Given the description of an element on the screen output the (x, y) to click on. 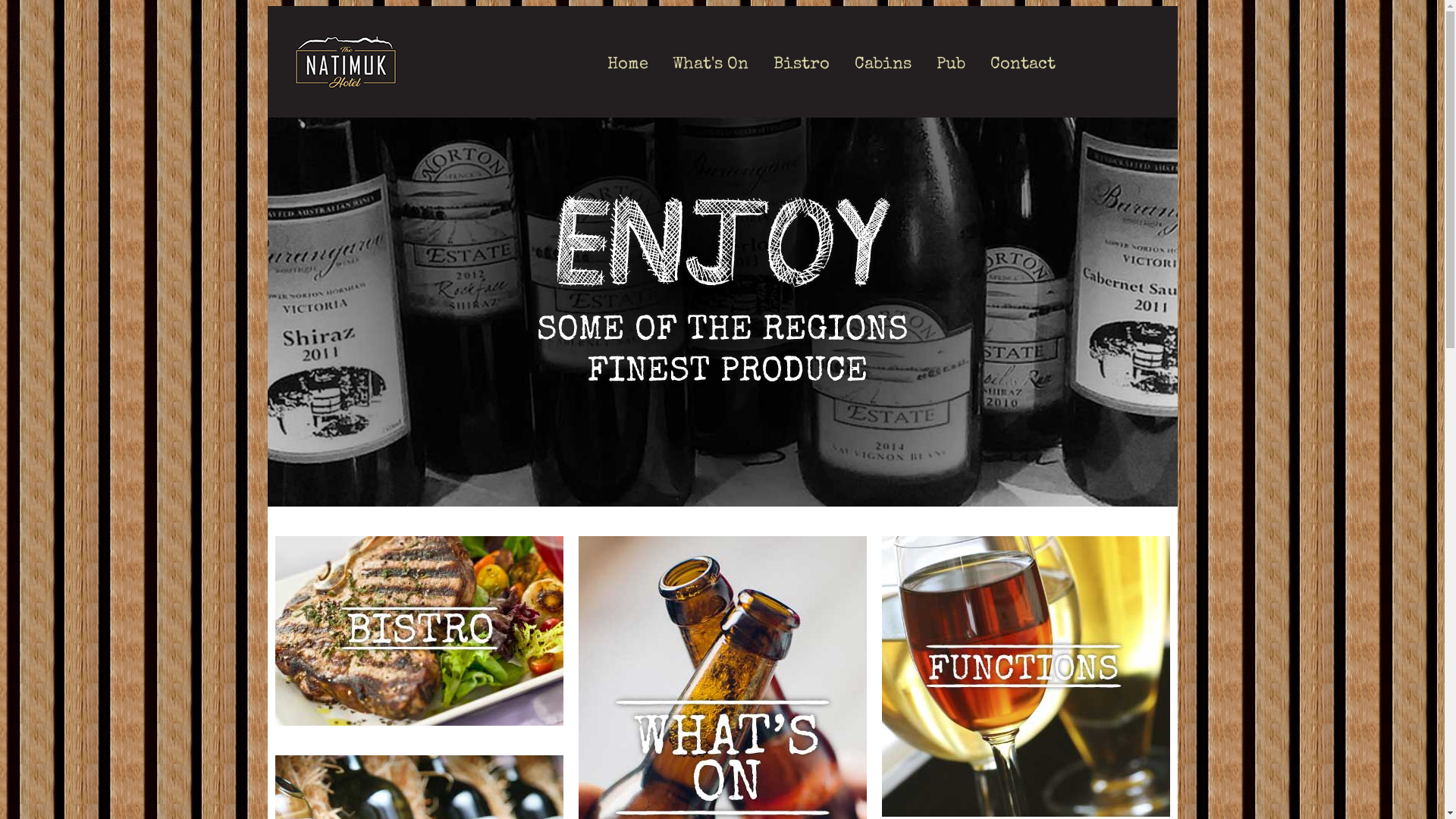
What's On Element type: text (709, 64)
Bistro Element type: text (801, 64)
Home Element type: text (626, 64)
Contact Element type: text (1022, 64)
Cabins Element type: text (881, 64)
Pub Element type: text (949, 64)
